Given the description of an element on the screen output the (x, y) to click on. 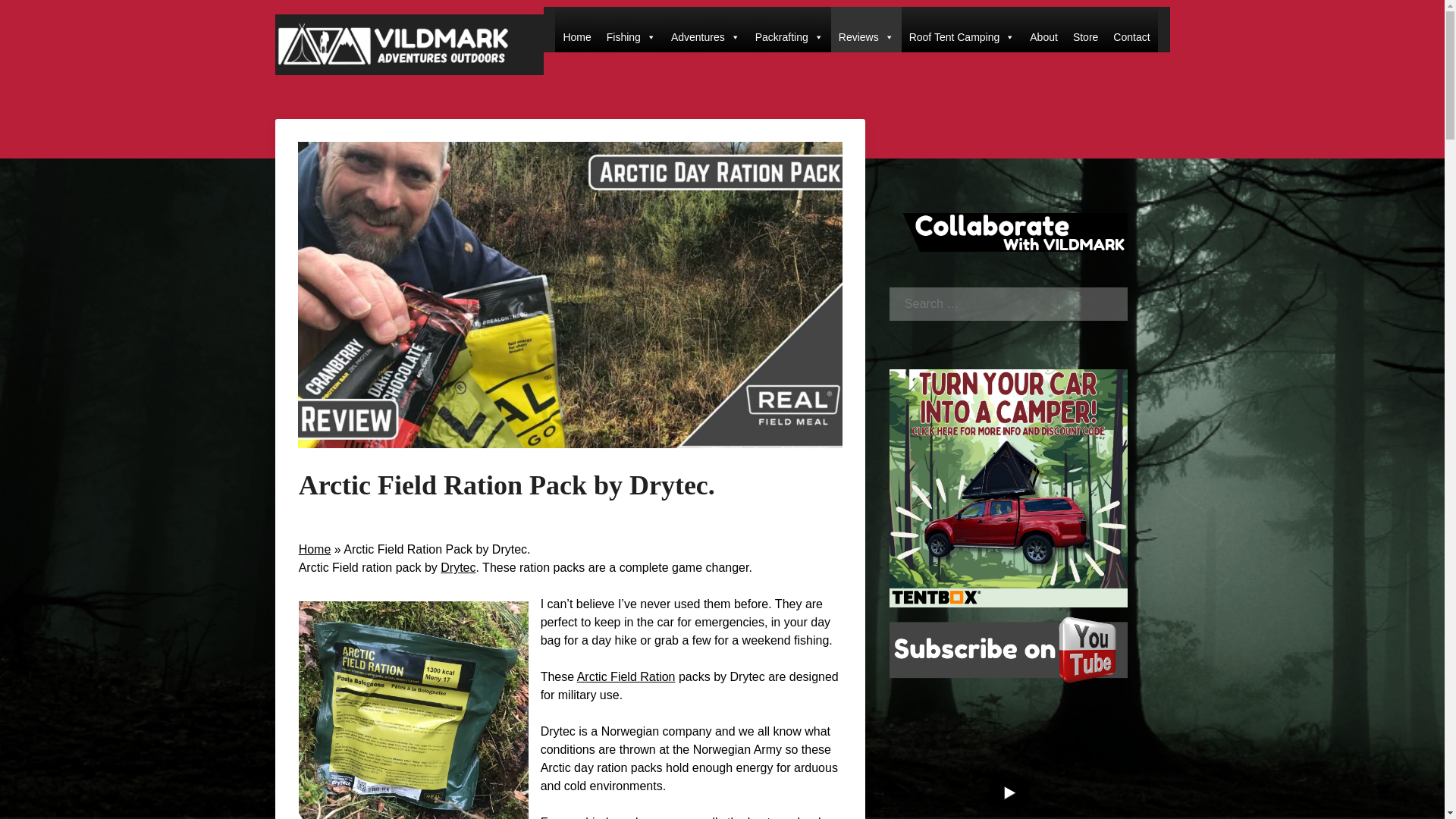
Adventures (705, 29)
Home (576, 29)
Fishing (630, 29)
